Given the description of an element on the screen output the (x, y) to click on. 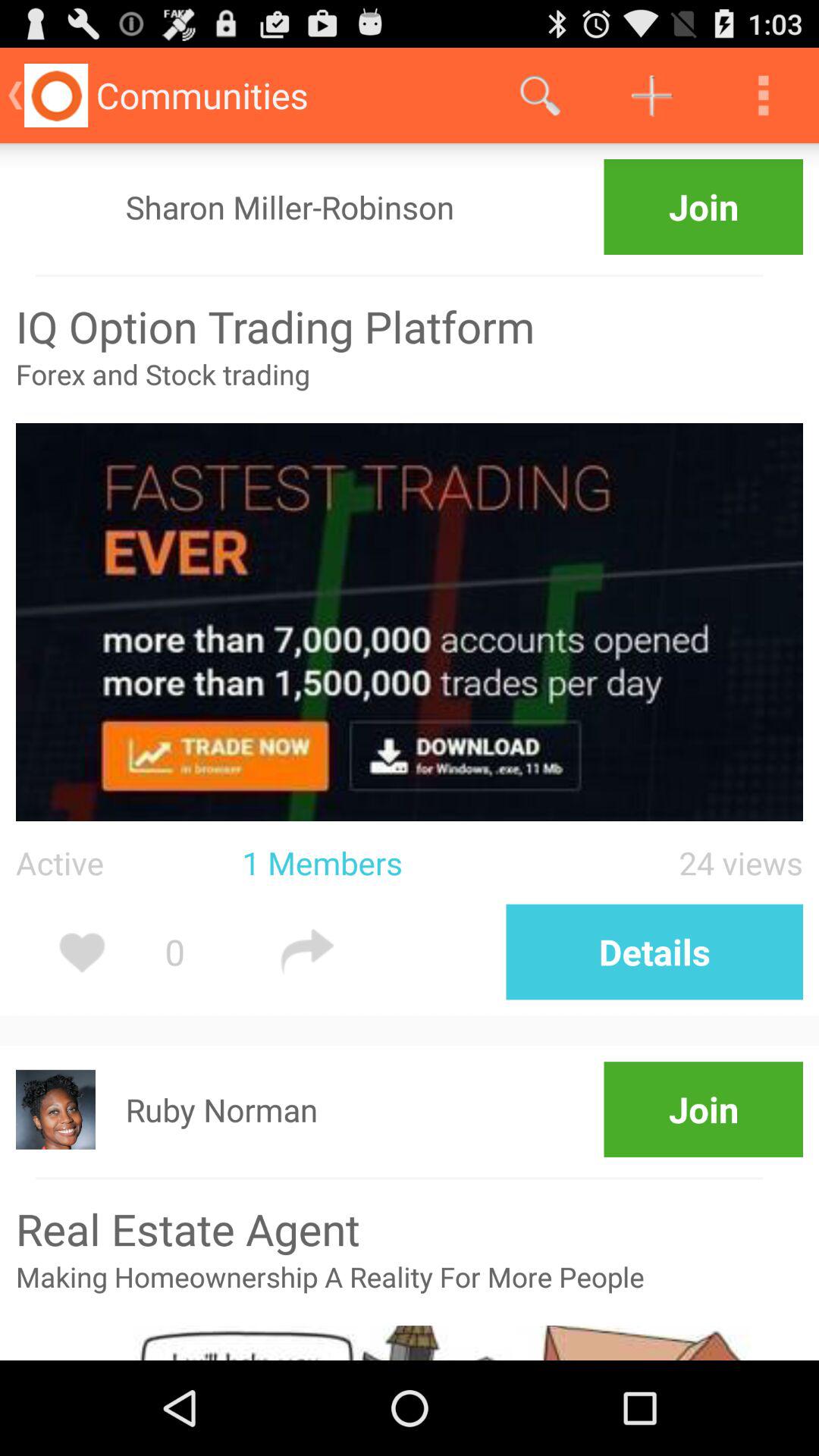
scroll to 1 members app (391, 862)
